Given the description of an element on the screen output the (x, y) to click on. 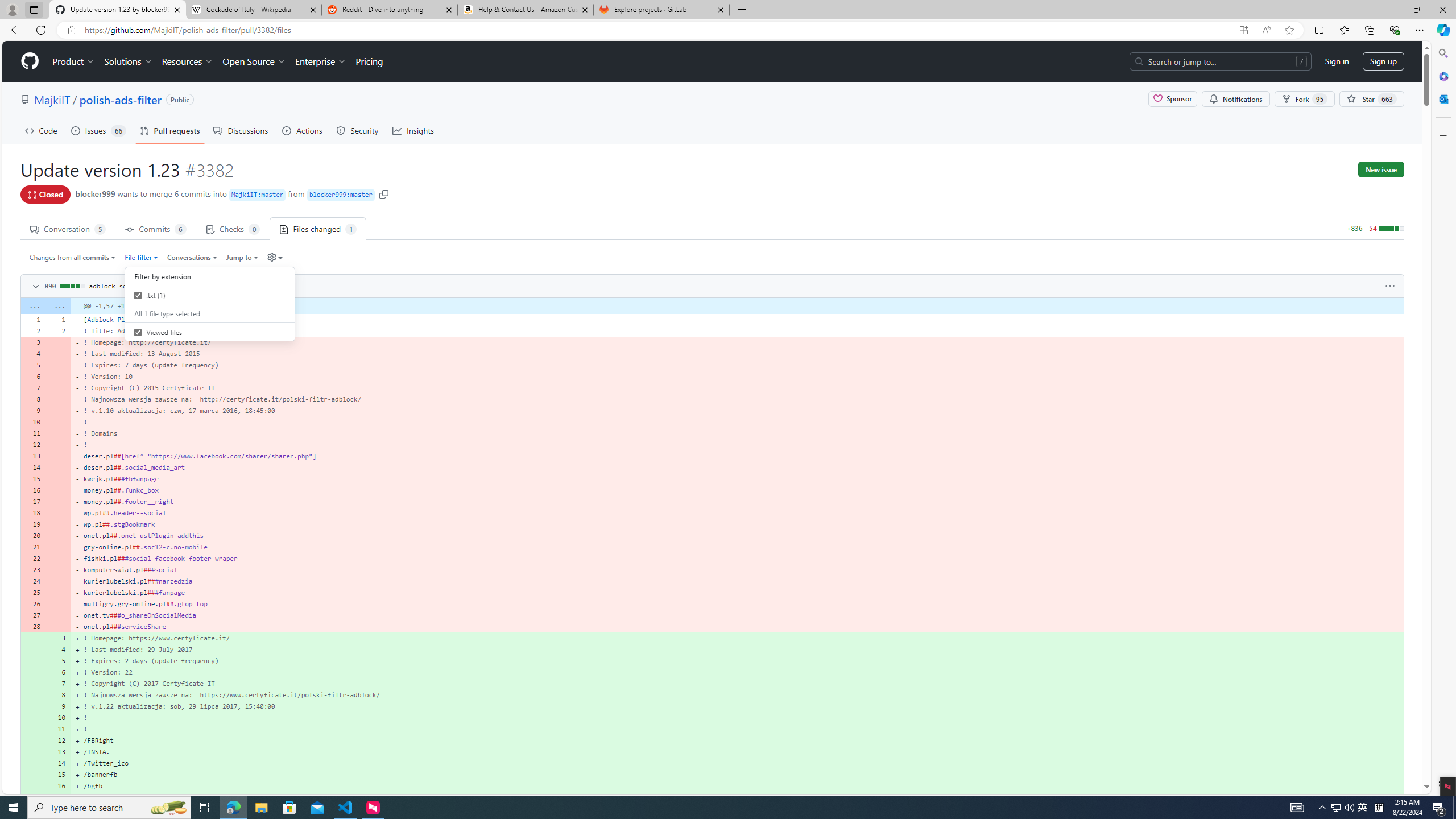
4 (58, 649)
Resources (187, 60)
Solutions (128, 60)
 Checks 0 (232, 228)
MajkiIT : master (257, 195)
- wp.pl##.header--social (737, 512)
21 (33, 546)
Fork 95 (1304, 98)
+ ! Copyright (C) 2017 Certyficate IT (737, 683)
Copy (270, 284)
- ! Expires: 7 days (update frequency)  (737, 365)
8 (58, 695)
New issue (1380, 169)
Actions (302, 130)
